Given the description of an element on the screen output the (x, y) to click on. 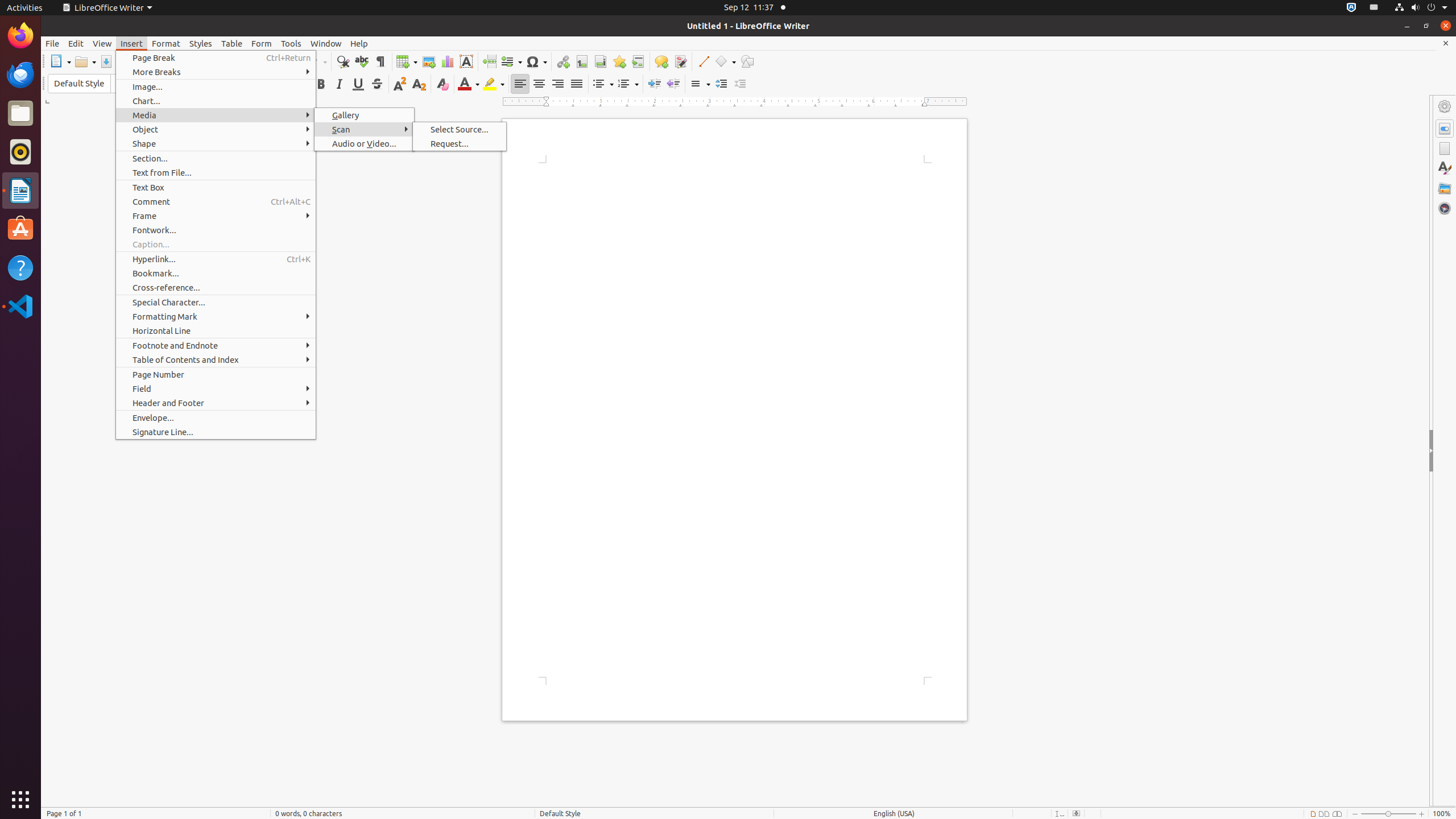
Text Box Element type: push-button (465, 61)
Scan Element type: menu (364, 129)
Spelling Element type: push-button (361, 61)
Chart... Element type: menu-item (215, 100)
Subscript Element type: toggle-button (418, 83)
